Given the description of an element on the screen output the (x, y) to click on. 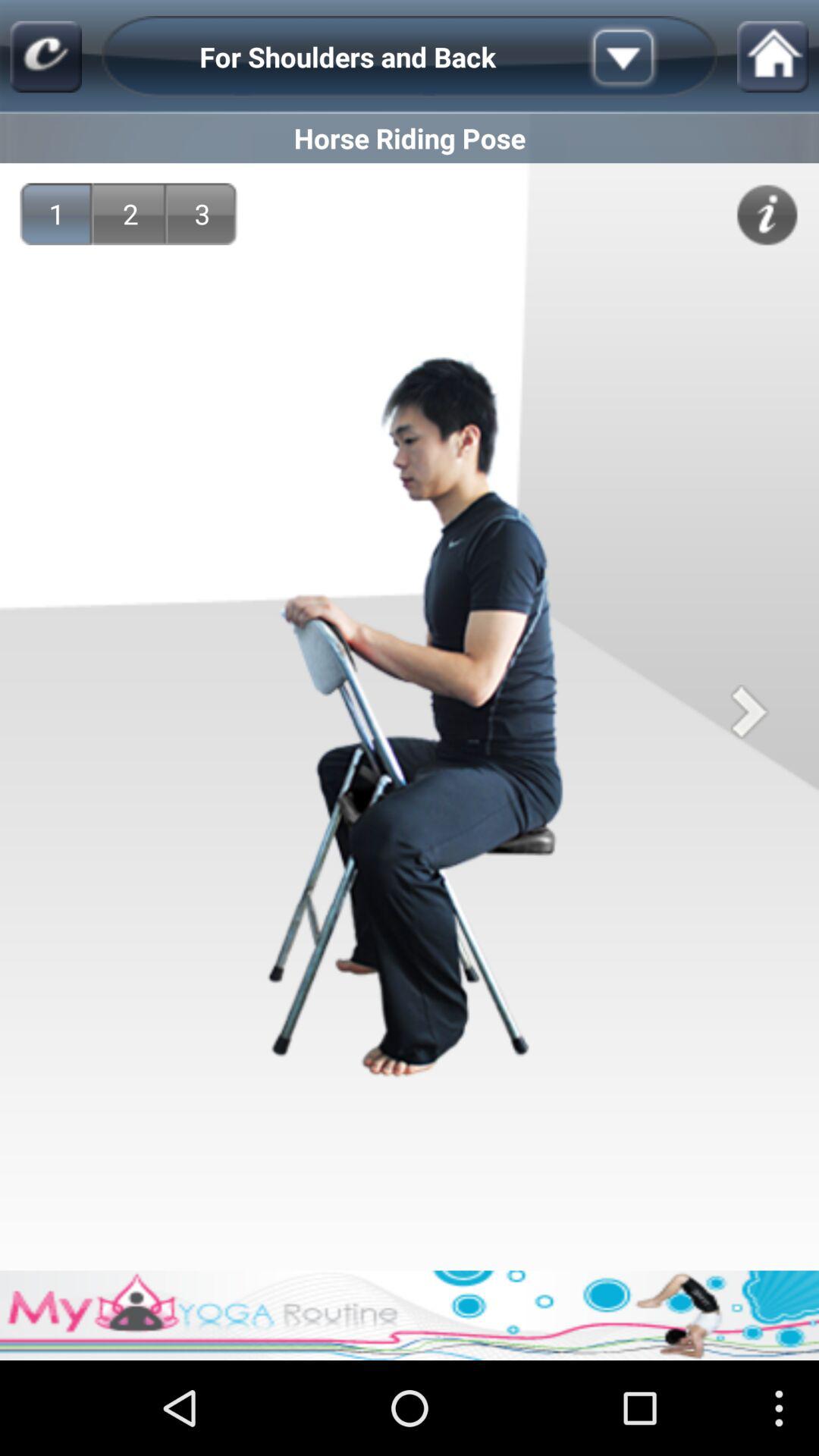
open 1 icon (56, 214)
